Given the description of an element on the screen output the (x, y) to click on. 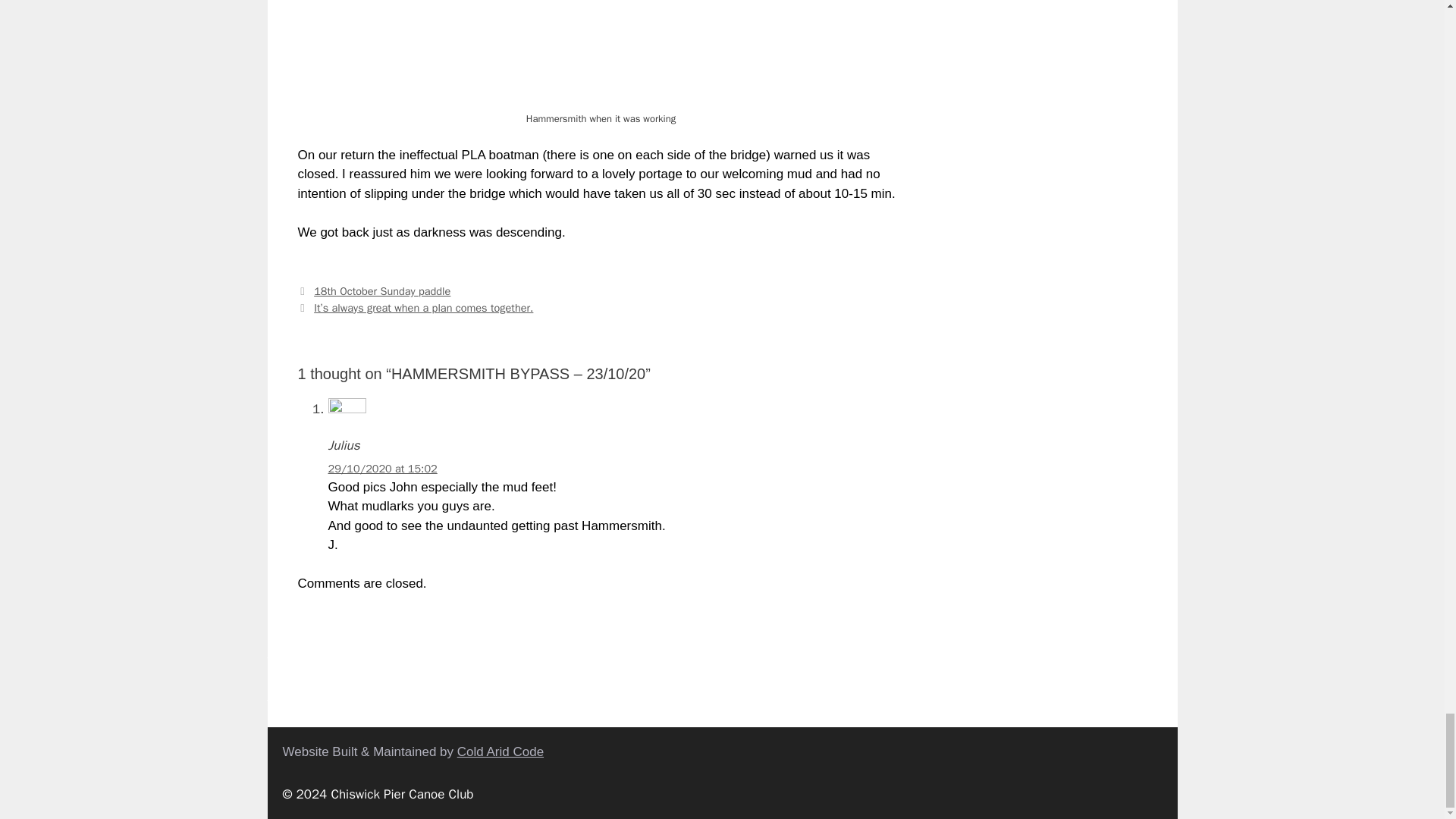
18th October Sunday paddle (381, 291)
Cold Arid Code (500, 751)
Privacy Statement (318, 652)
